Given the description of an element on the screen output the (x, y) to click on. 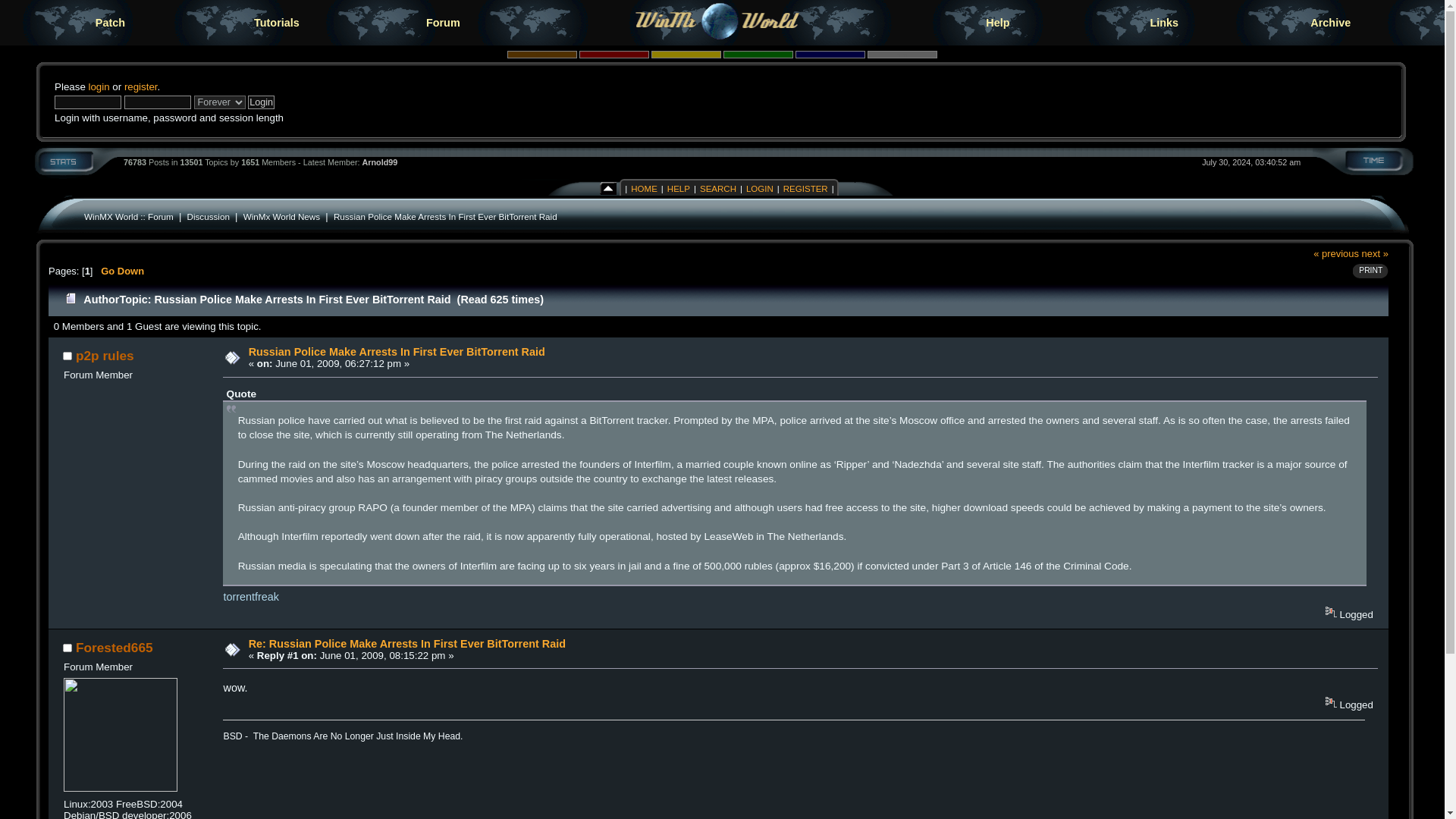
p2p rules (104, 355)
Russian Police Make Arrests In First Ever BitTorrent Raid (445, 215)
Login (261, 101)
golden (685, 54)
View the profile of Forested665 (113, 647)
Go Down (122, 270)
register (140, 86)
Discussion (208, 215)
Tutorials (276, 22)
PRINT (1366, 271)
red (613, 54)
Forum (442, 22)
Help (998, 22)
WinMx World News (281, 215)
